Given the description of an element on the screen output the (x, y) to click on. 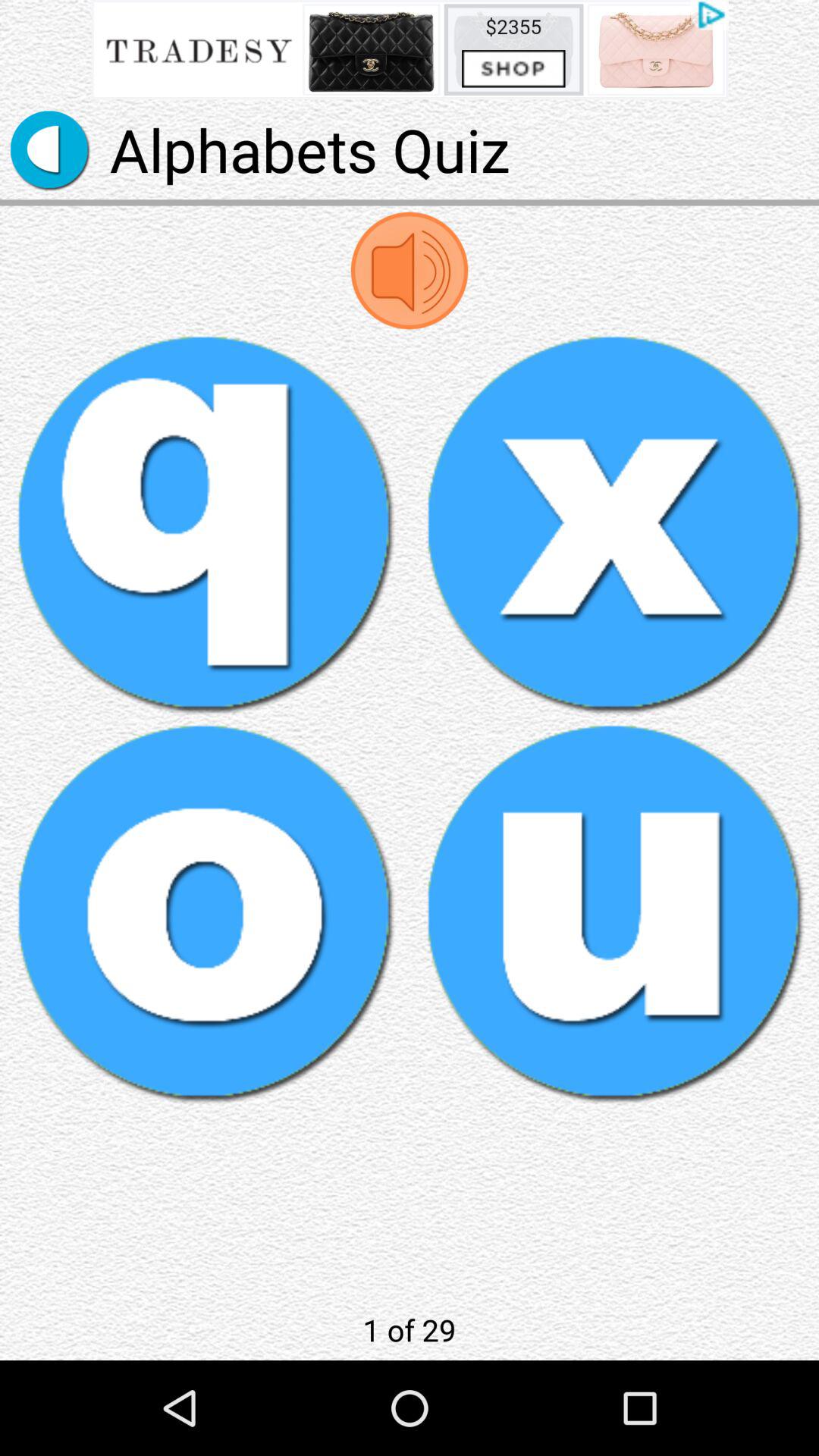
to see more add (409, 49)
